Given the description of an element on the screen output the (x, y) to click on. 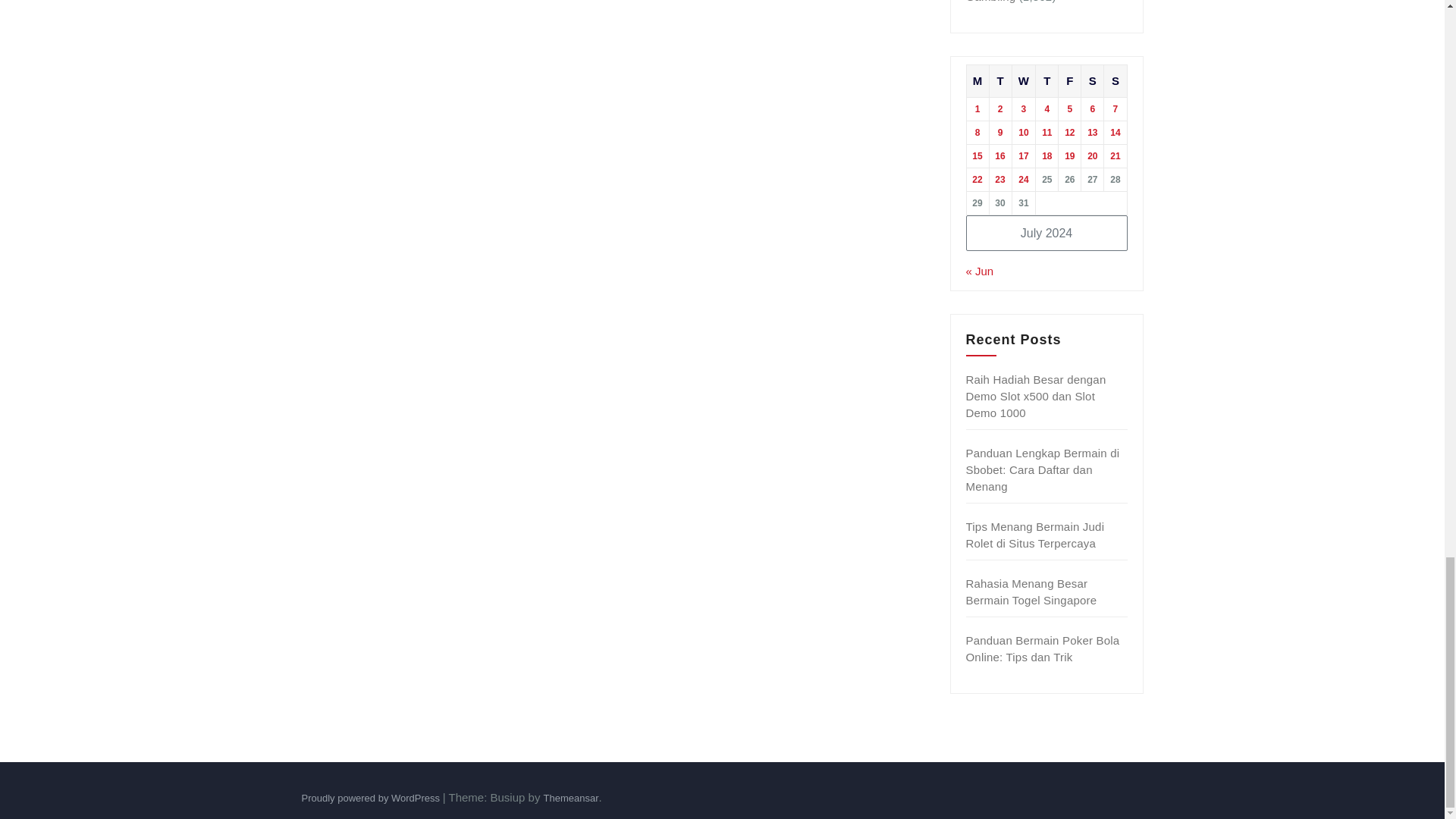
Wednesday (1023, 80)
Sunday (1114, 80)
Thursday (1046, 80)
Friday (1069, 80)
Monday (977, 80)
Saturday (1092, 80)
Tuesday (999, 80)
